Given the description of an element on the screen output the (x, y) to click on. 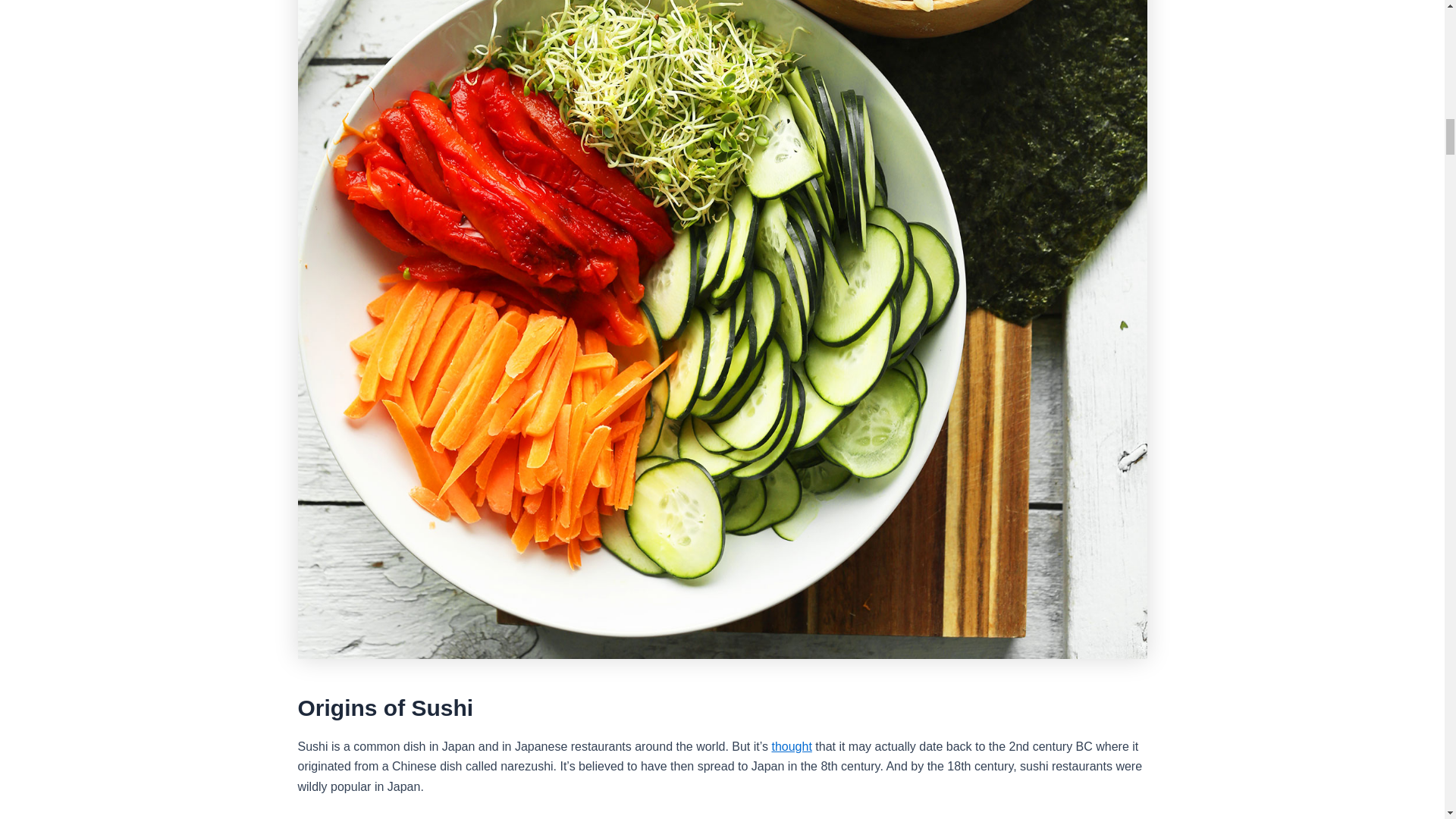
thought (790, 746)
